Given the description of an element on the screen output the (x, y) to click on. 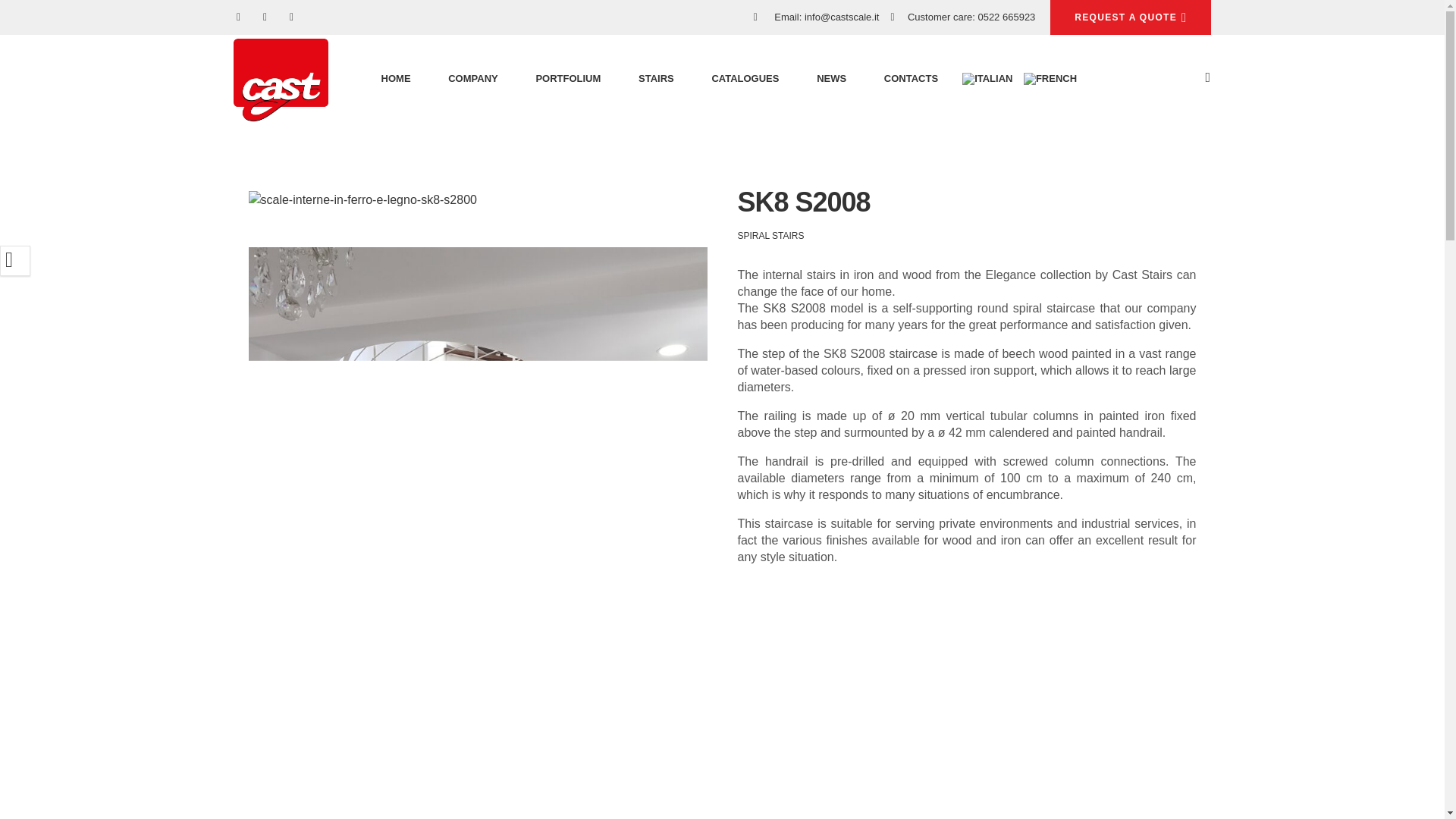
youtube (264, 17)
SPIRAL STAIRS (769, 235)
REQUEST A QUOTE (1130, 17)
instagram (291, 17)
facebook (238, 17)
Richiedi Preventivo (1130, 17)
CATALOGUES (745, 78)
COMPANY (472, 78)
CONTACTS (910, 78)
PORTFOLIUM (567, 78)
